Given the description of an element on the screen output the (x, y) to click on. 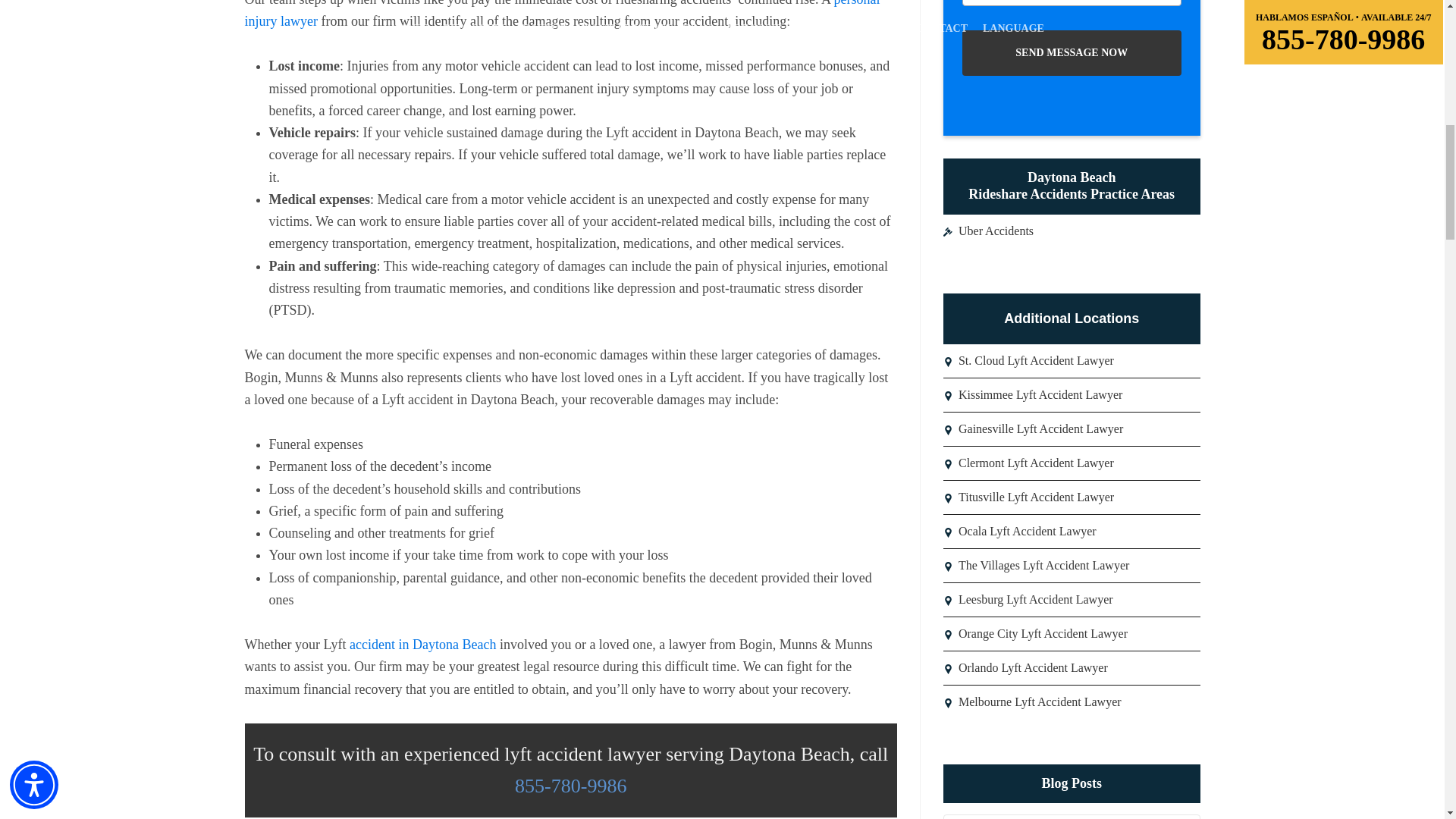
What Is the Average Personal Injury Settlement in Florida? (1071, 816)
Send Message Now (1071, 53)
